Given the description of an element on the screen output the (x, y) to click on. 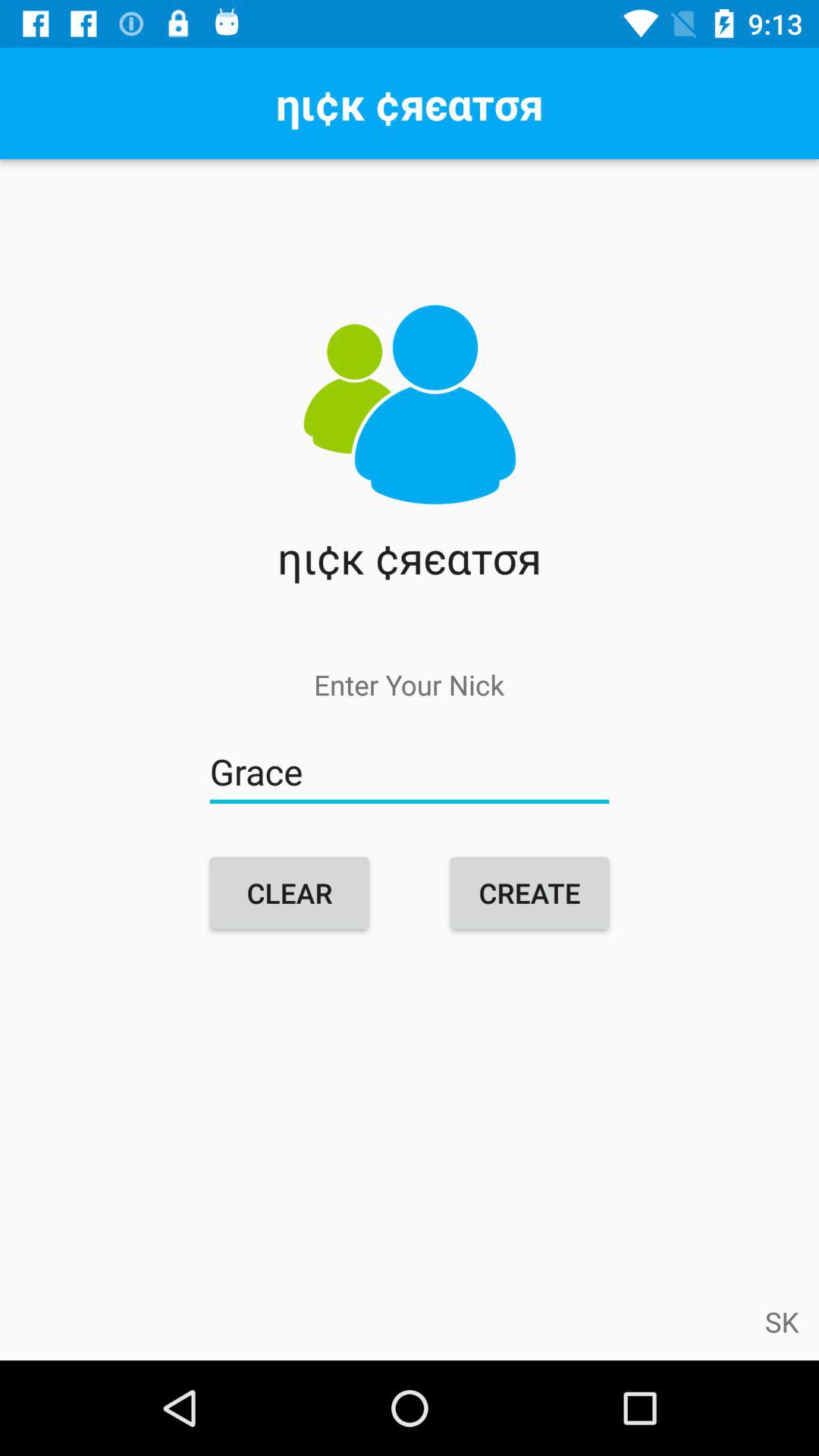
scroll until clear (289, 892)
